Given the description of an element on the screen output the (x, y) to click on. 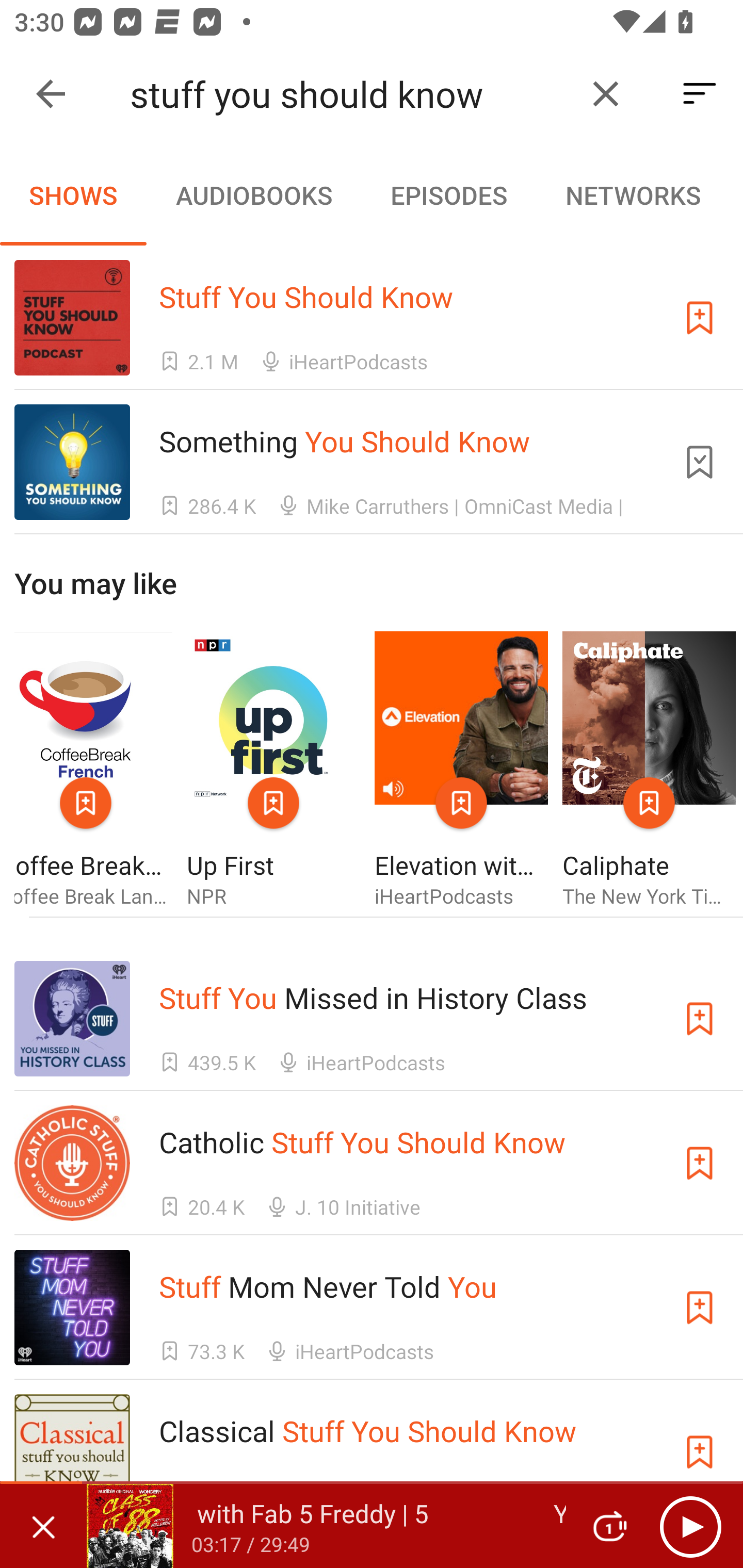
Collapse (50, 93)
Clear query (605, 93)
Sort By (699, 93)
stuff you should know (349, 94)
SHOWS (73, 195)
AUDIOBOOKS (253, 195)
EPISODES (448, 195)
NETWORKS (632, 195)
Subscribe (699, 317)
Unsubscribe (699, 462)
Coffee Break French Coffee Break Languages (93, 770)
Up First NPR (273, 770)
Elevation with Steven Furtick iHeartPodcasts (461, 770)
Caliphate The New York Times (648, 770)
Subscribe (699, 1019)
Subscribe (699, 1163)
Subscribe (699, 1307)
Subscribe (699, 1451)
Play (690, 1526)
